Given the description of an element on the screen output the (x, y) to click on. 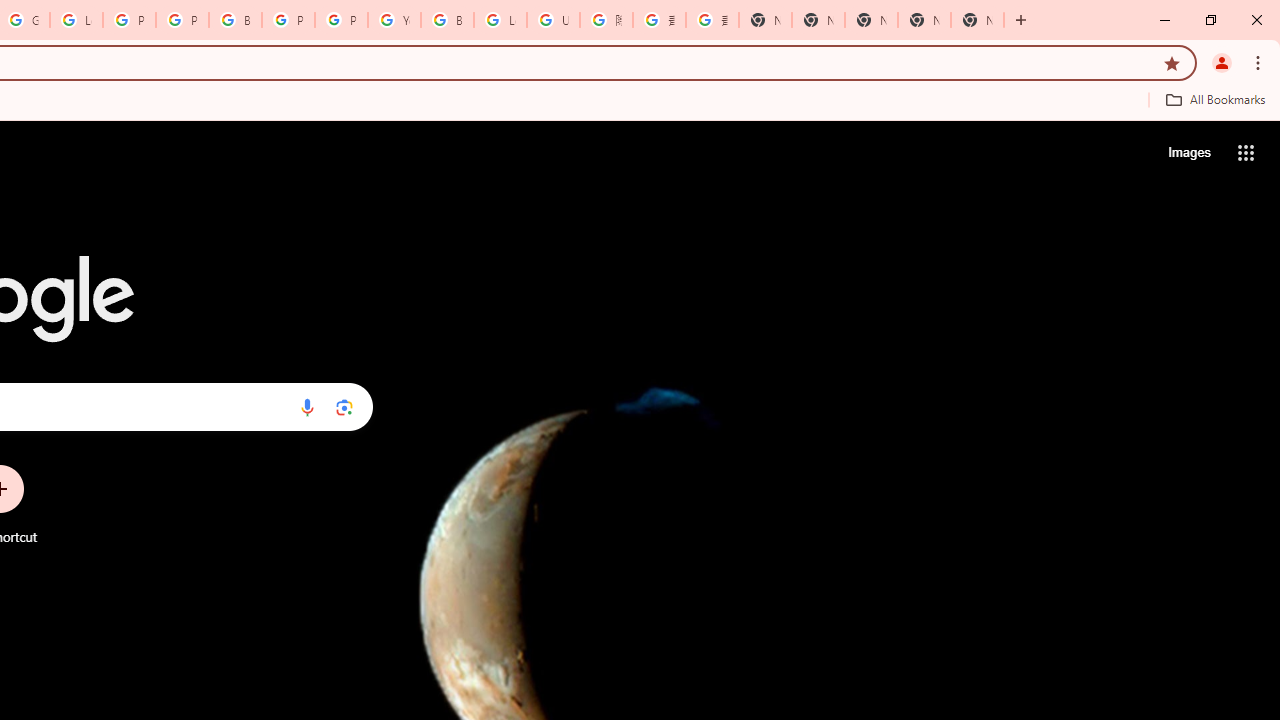
New Tab (765, 20)
Search for Images  (1188, 152)
YouTube (394, 20)
Google apps (1245, 152)
New Tab (977, 20)
Search by image (344, 407)
